Given the description of an element on the screen output the (x, y) to click on. 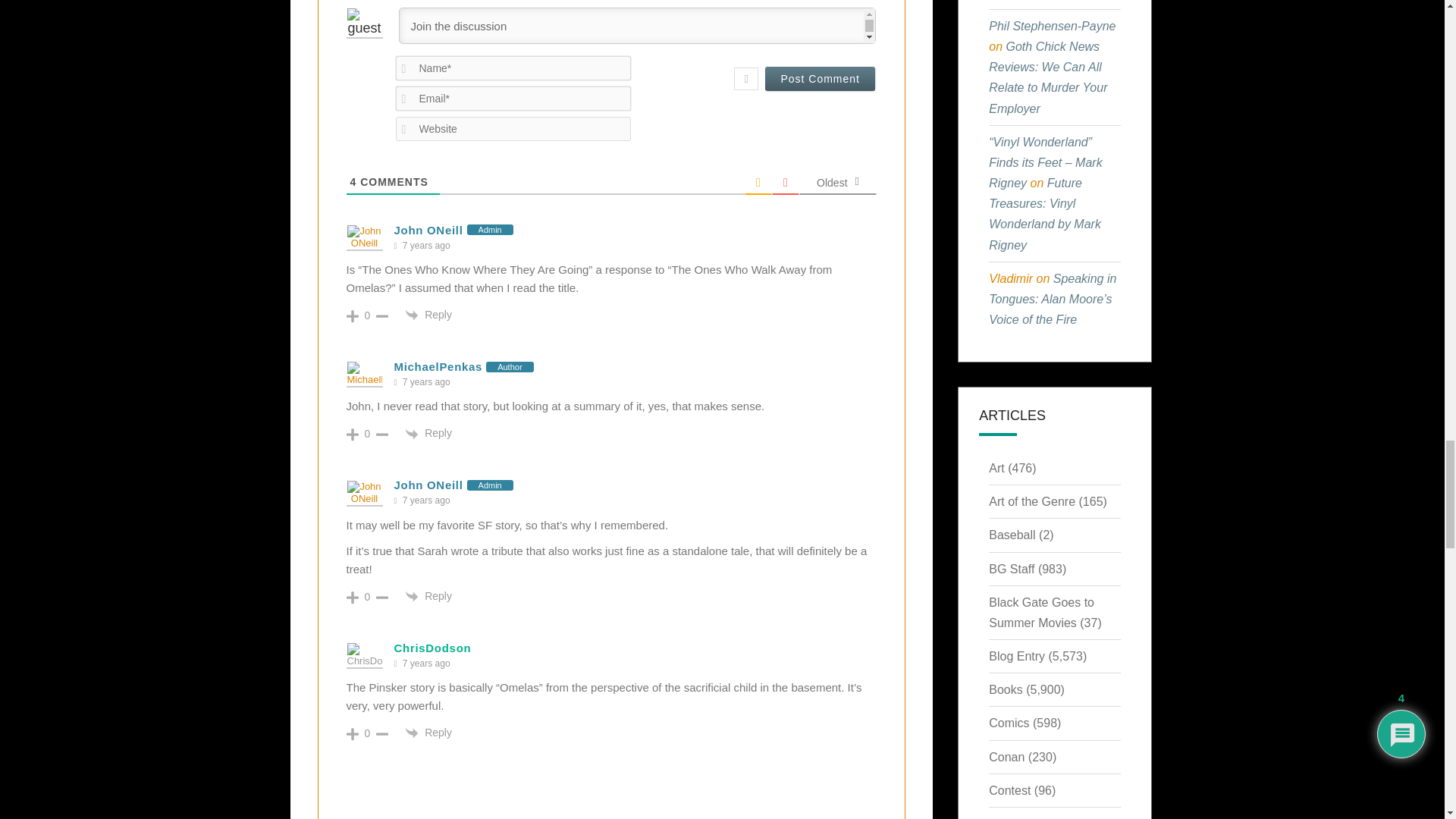
John ONeill (428, 484)
0 (366, 315)
Tuesday, March 28, 2017 11:26 am (426, 246)
Post Comment (820, 78)
MichaelPenkas (438, 366)
Tuesday, March 28, 2017 11:34 am (426, 382)
John ONeill (428, 229)
0 (366, 433)
Post Comment (820, 78)
